Given the description of an element on the screen output the (x, y) to click on. 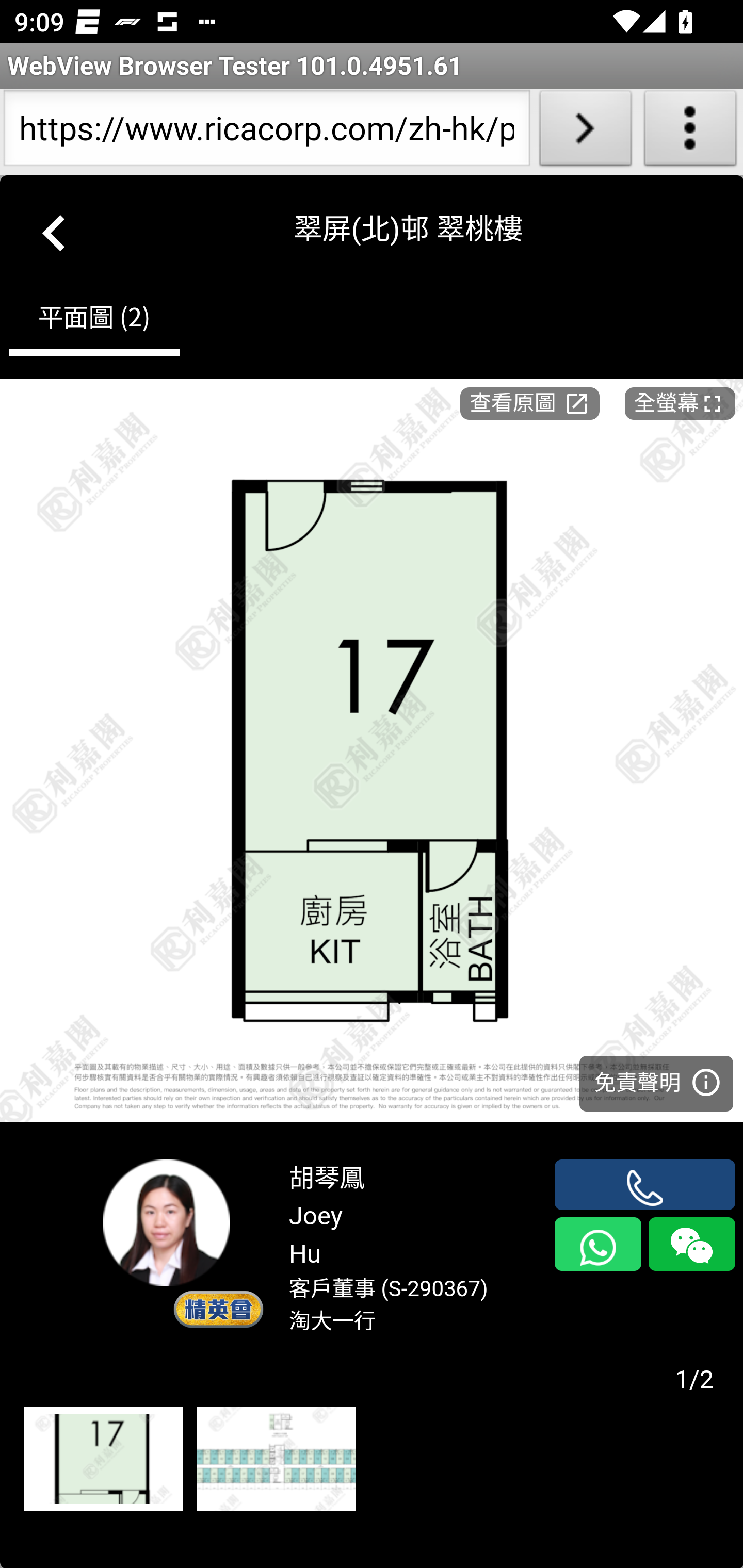
Load URL (585, 132)
About WebView (690, 132)
keyboard_arrow_left (54, 229)
平面圖 (2) (93, 320)
image (371, 749)
查看原圖launch (528, 402)
全螢幕fullscreen (679, 402)
免責聲明 (656, 1082)
phone (644, 1184)
whatsapp (597, 1244)
wechat (691, 1244)
161444_2000_Ricacorp (102, 1459)
161367_2000_Ricacorp (275, 1459)
